Given the description of an element on the screen output the (x, y) to click on. 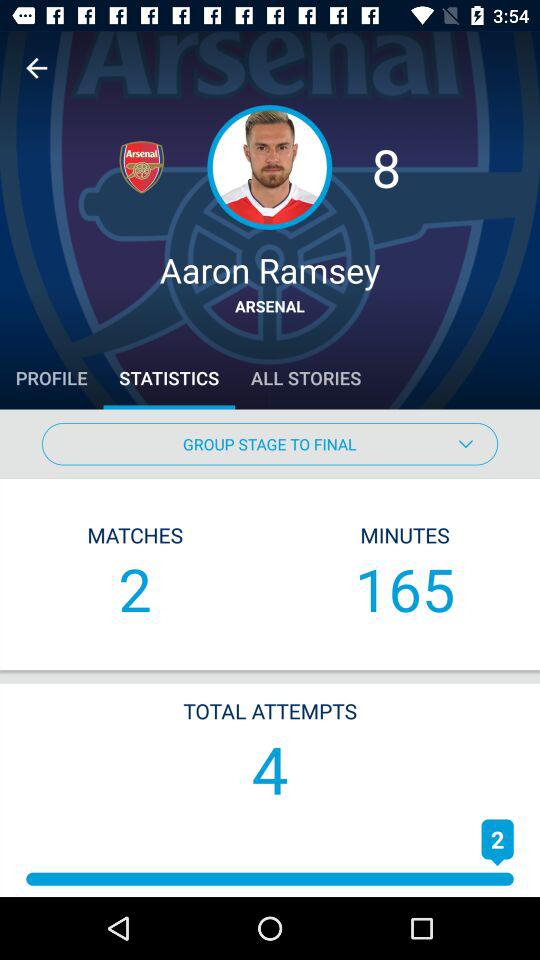
back to previous menu (36, 68)
